Given the description of an element on the screen output the (x, y) to click on. 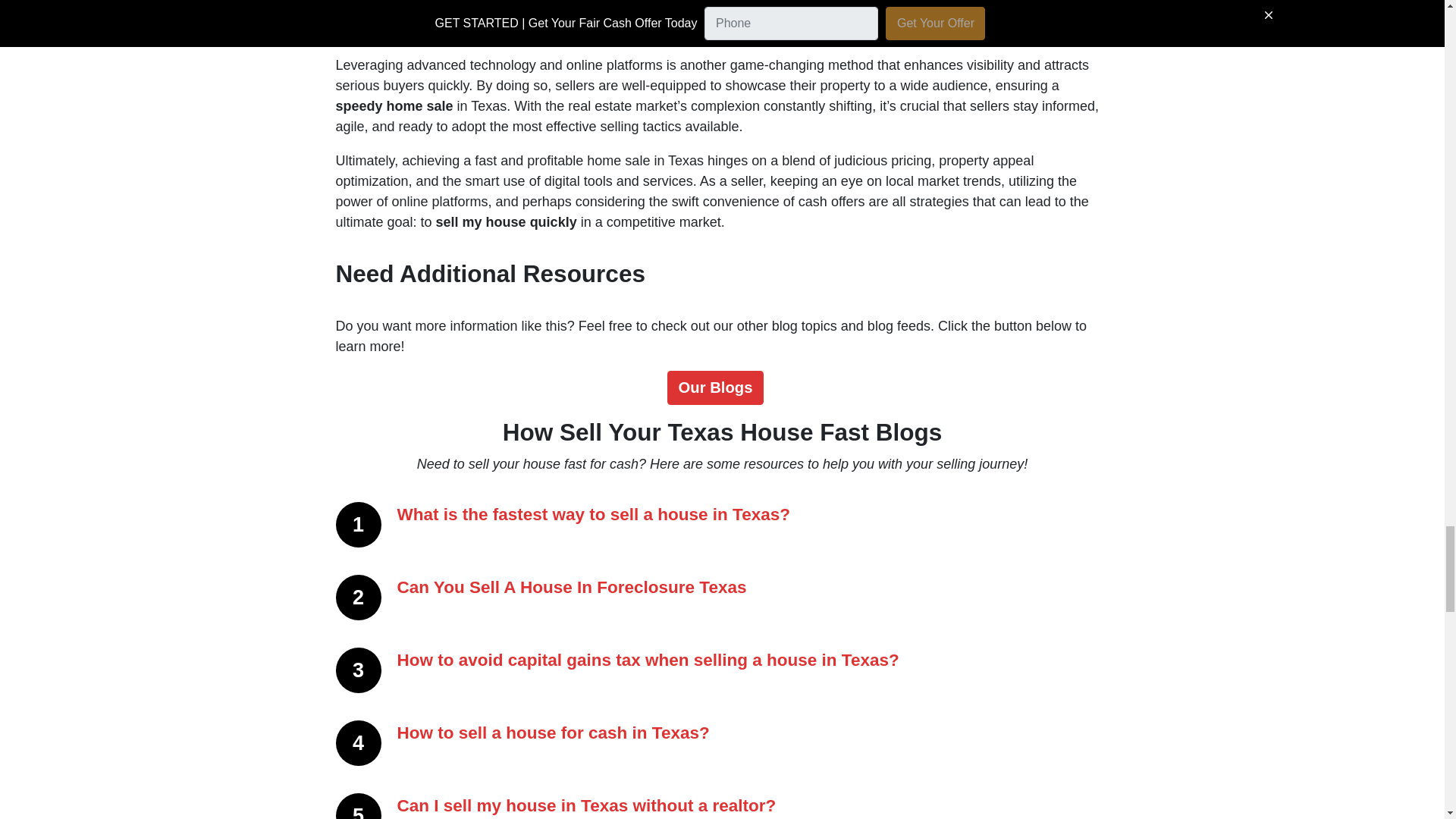
Can You Sell A House In Foreclosure Texas (571, 587)
How to sell a house for cash in Texas? (553, 732)
Can I sell my house in Texas without a realtor? (586, 805)
Our Blogs (714, 387)
What is the fastest way to sell a house in Texas? (593, 514)
